Given the description of an element on the screen output the (x, y) to click on. 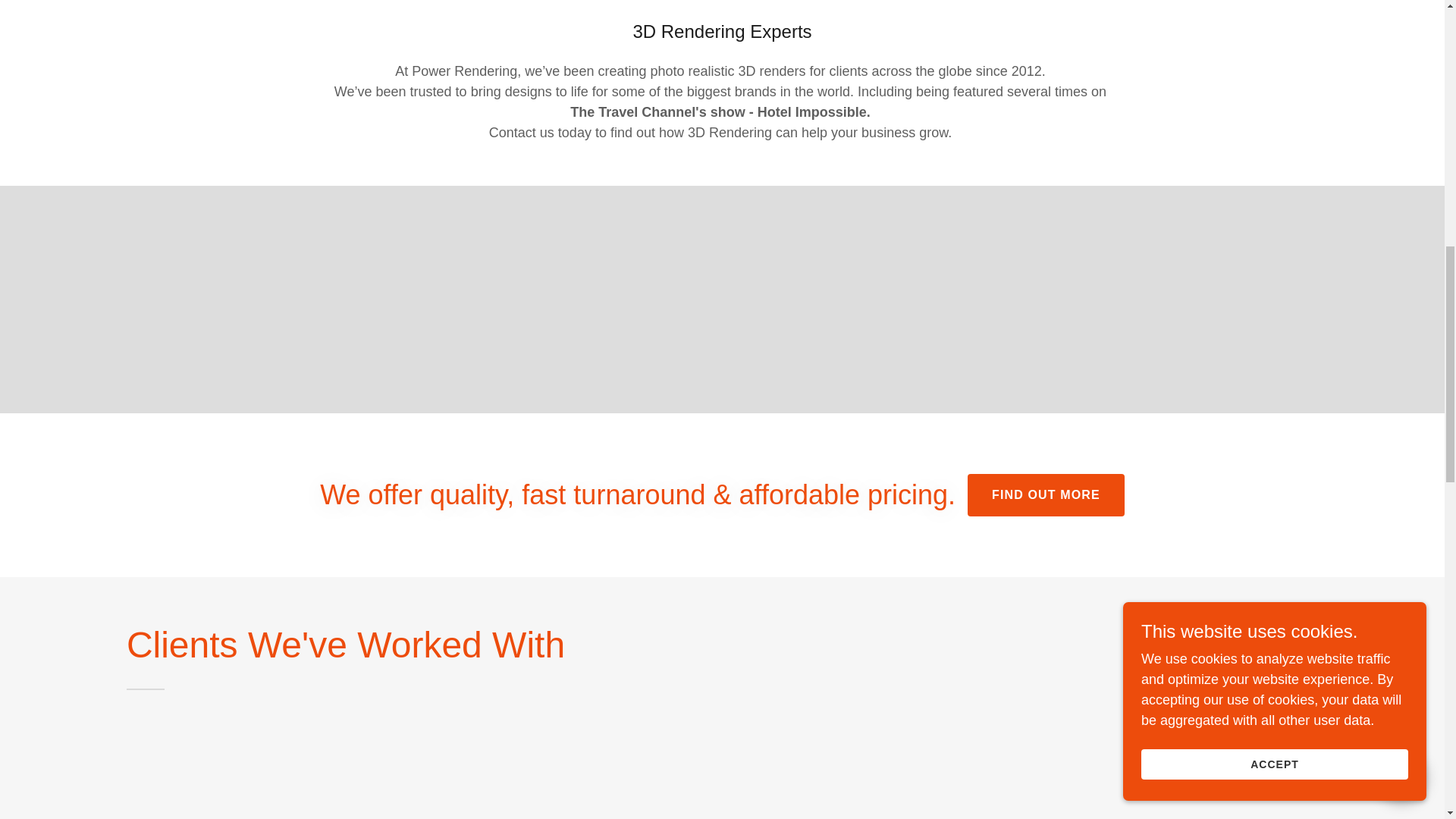
FIND OUT MORE (1046, 495)
